Given the description of an element on the screen output the (x, y) to click on. 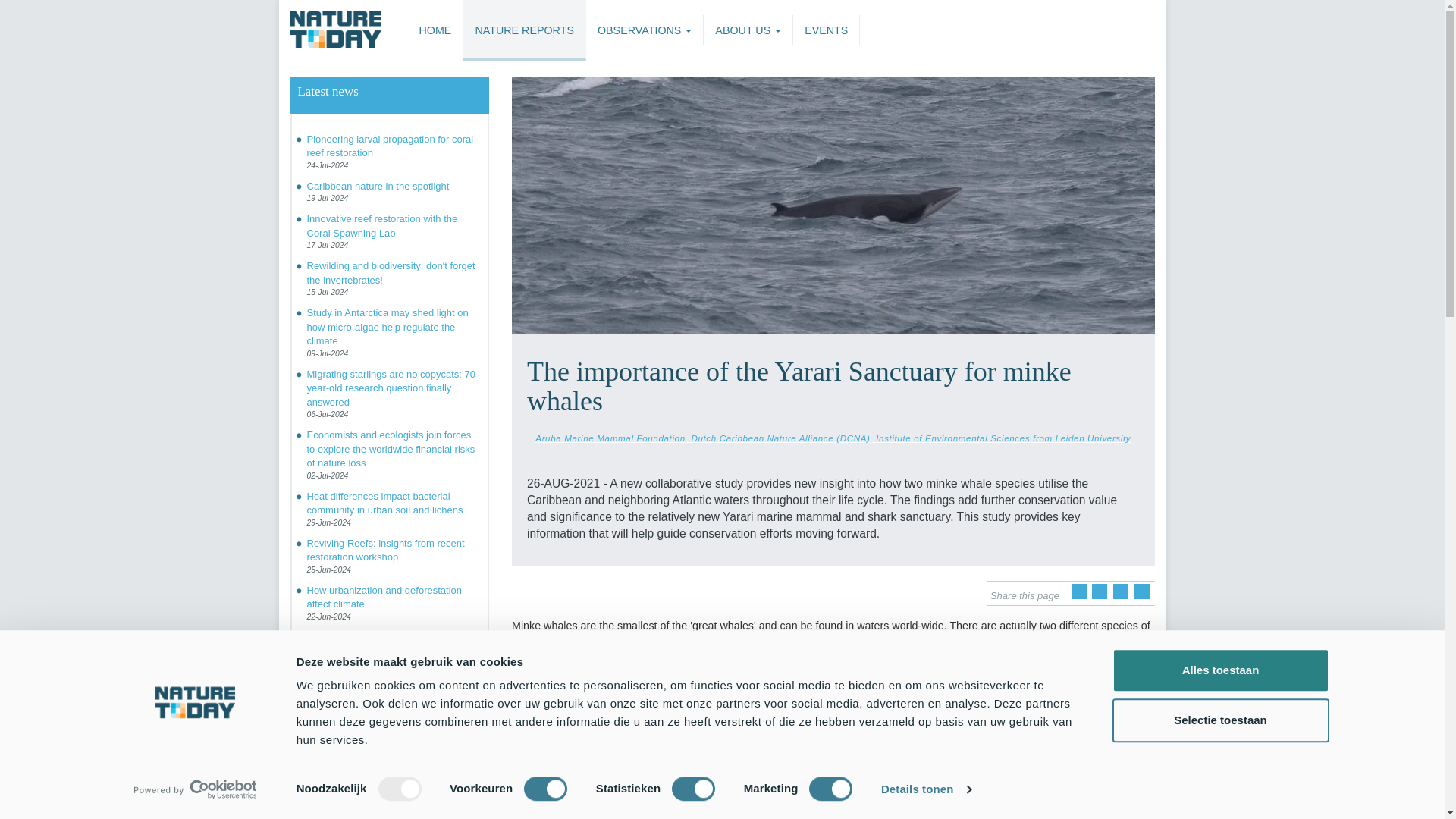
Details tonen (925, 789)
